Given the description of an element on the screen output the (x, y) to click on. 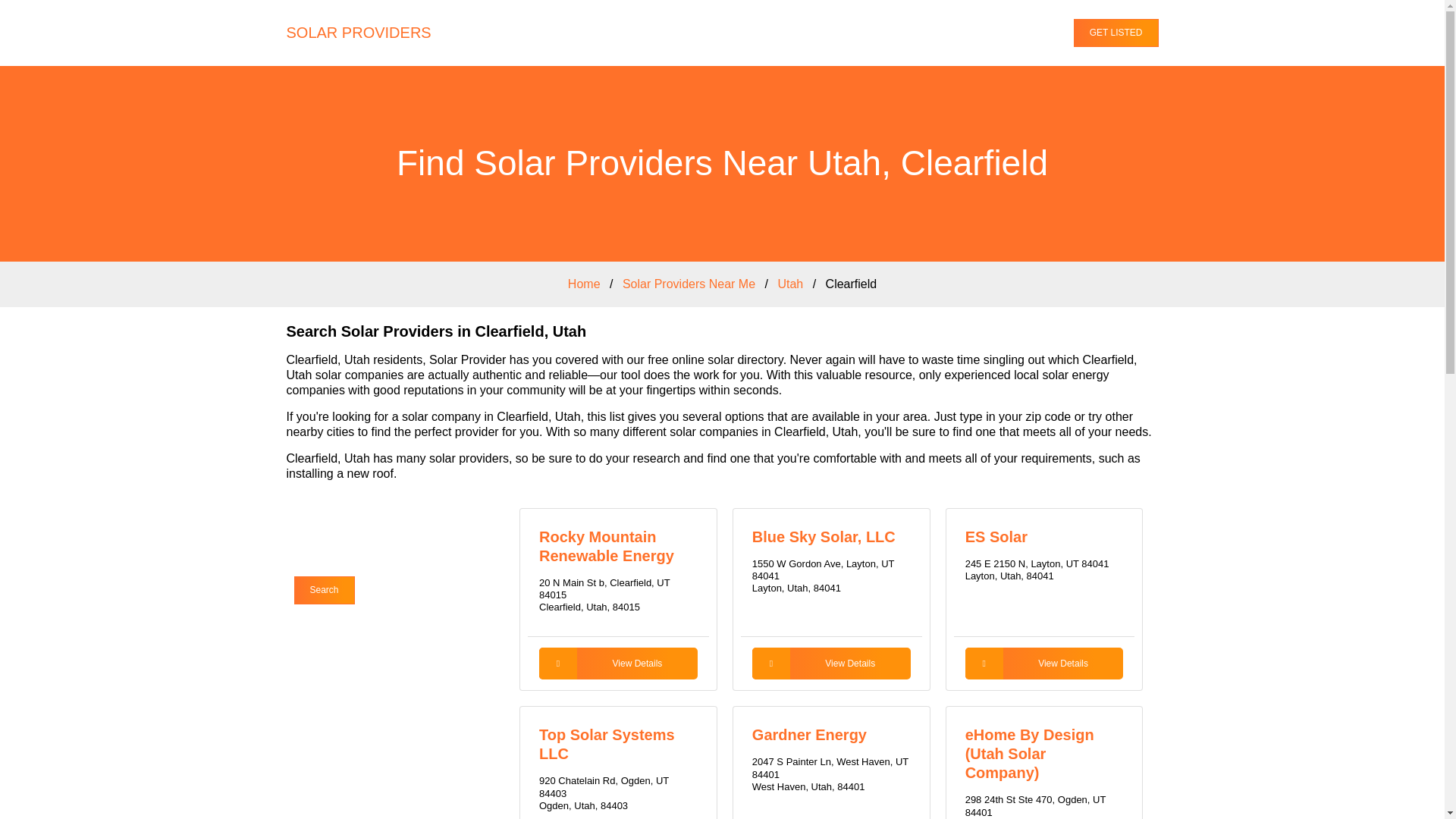
ES Solar (996, 535)
Blue Sky Solar, LLC (823, 535)
Home (583, 283)
Top Solar Systems LLC (606, 744)
Solar Providers Near Me (689, 283)
View Details (617, 663)
Gardner Energy (809, 734)
GET LISTED (1116, 32)
SOLAR PROVIDERS (358, 32)
View Details (1044, 663)
View Details (831, 663)
Rocky Mountain Renewable Energy (606, 545)
Utah (790, 283)
Search (324, 590)
